Given the description of an element on the screen output the (x, y) to click on. 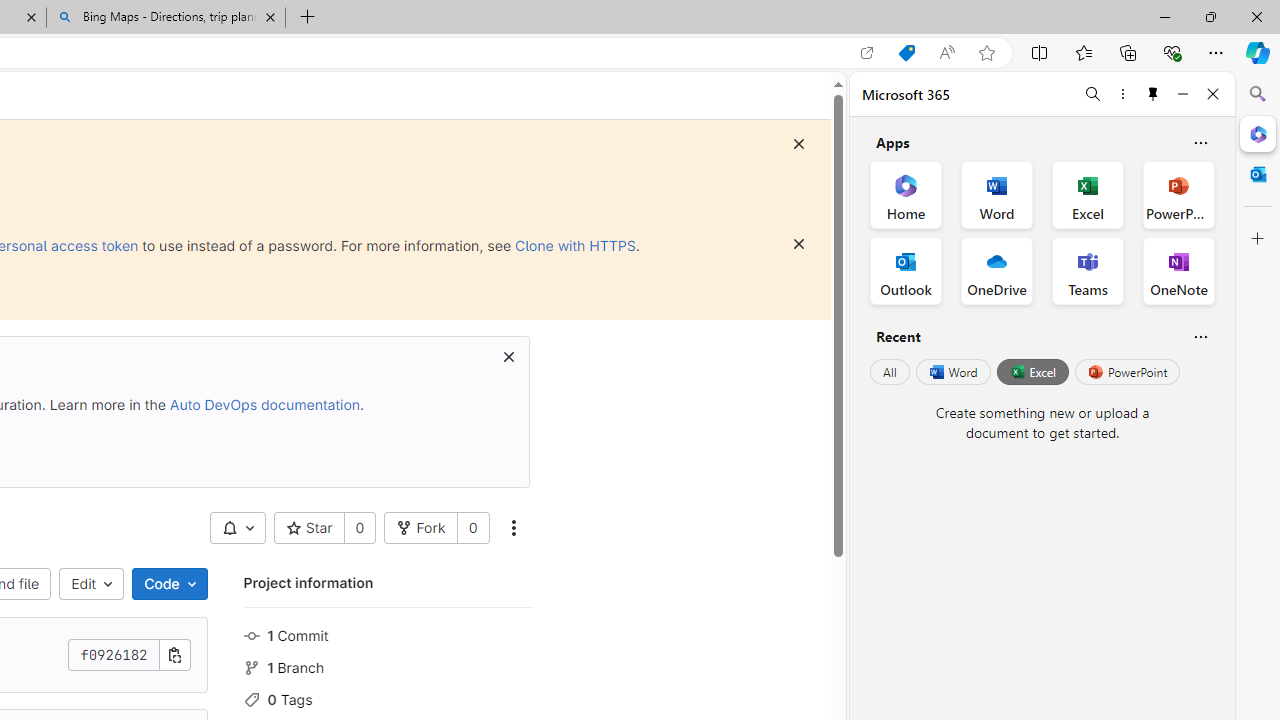
All (890, 372)
Home Office App (906, 194)
Code (169, 583)
Auto DevOps documentation (264, 404)
Clone with HTTPS (575, 245)
AutomationID: __BVID__498__BV_toggle_ (237, 527)
Dismiss Auto DevOps box (508, 356)
